Given the description of an element on the screen output the (x, y) to click on. 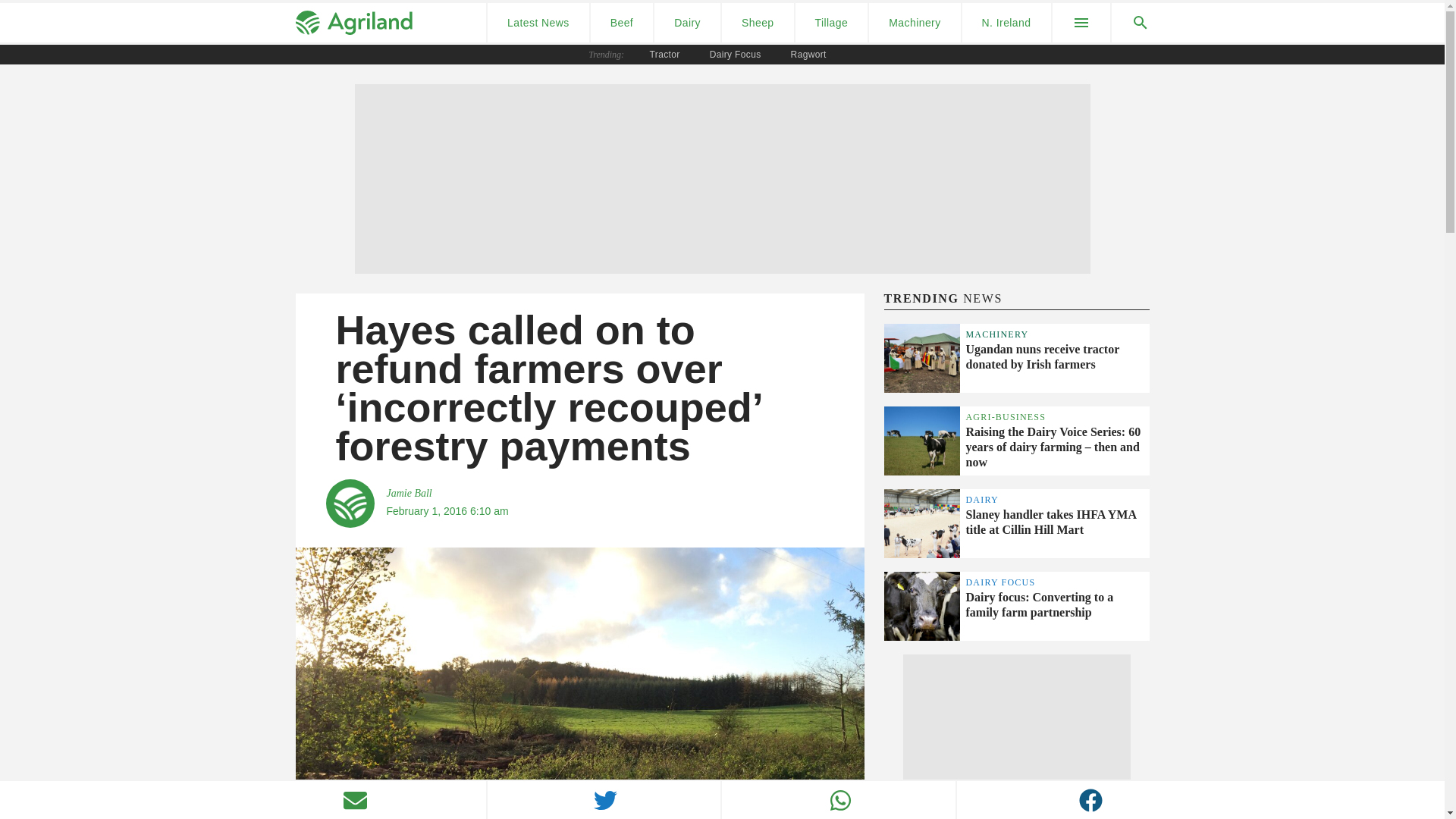
Beef (621, 22)
Tillage (830, 22)
Dairy (686, 22)
N. Ireland (1006, 22)
Latest News (538, 22)
search agriland (1131, 22)
Machinery (914, 22)
Sheep (757, 22)
Agriland Logo (353, 22)
